Given the description of an element on the screen output the (x, y) to click on. 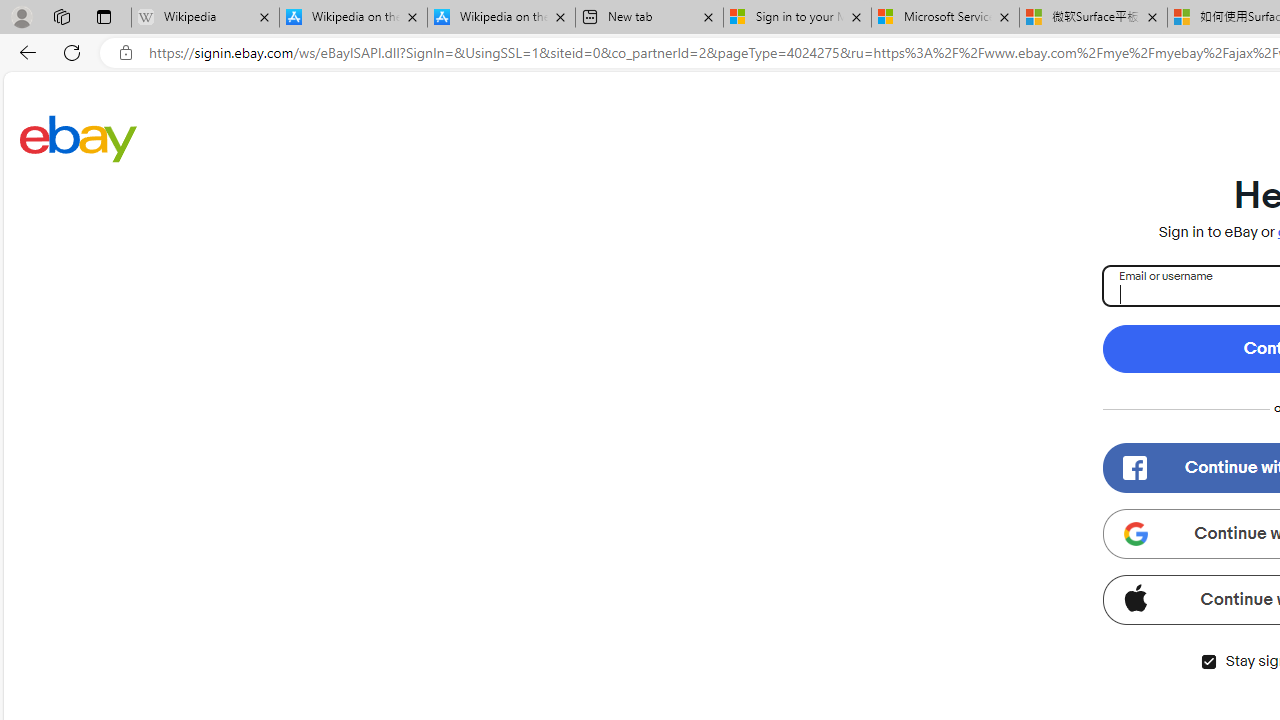
Stay signed in (1208, 661)
Wikipedia - Sleeping (205, 17)
eBay Home (78, 138)
Class: apple-icon (1135, 597)
eBay Home (78, 138)
To get missing image descriptions, open the context menu. (1134, 467)
